Given the description of an element on the screen output the (x, y) to click on. 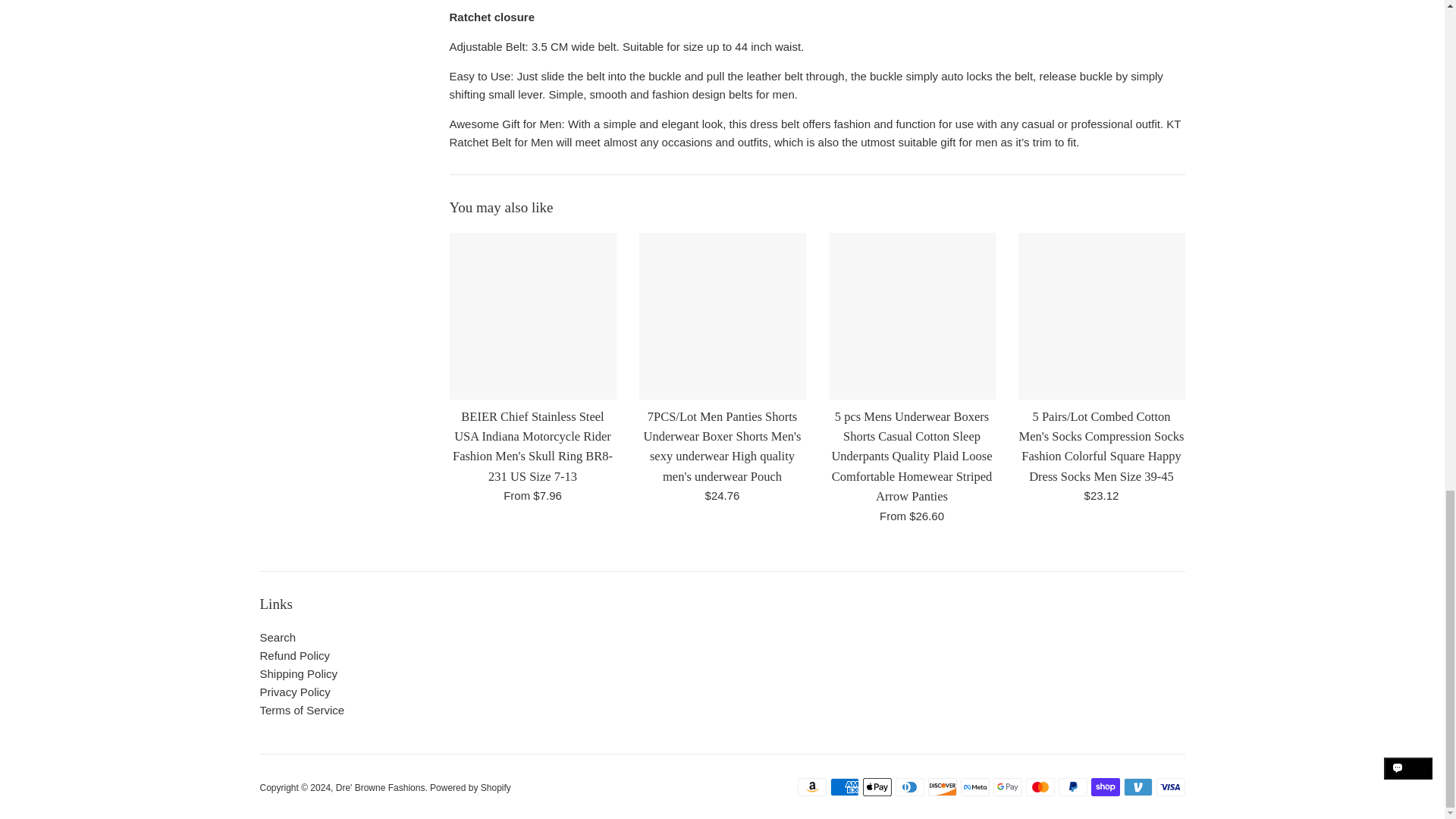
Meta Pay (973, 787)
Mastercard (1039, 787)
Shop Pay (1104, 787)
Discover (942, 787)
Amazon (812, 787)
Venmo (1138, 787)
American Express (844, 787)
Apple Pay (877, 787)
PayPal (1072, 787)
Visa (1170, 787)
Google Pay (1007, 787)
Diners Club (909, 787)
